Given the description of an element on the screen output the (x, y) to click on. 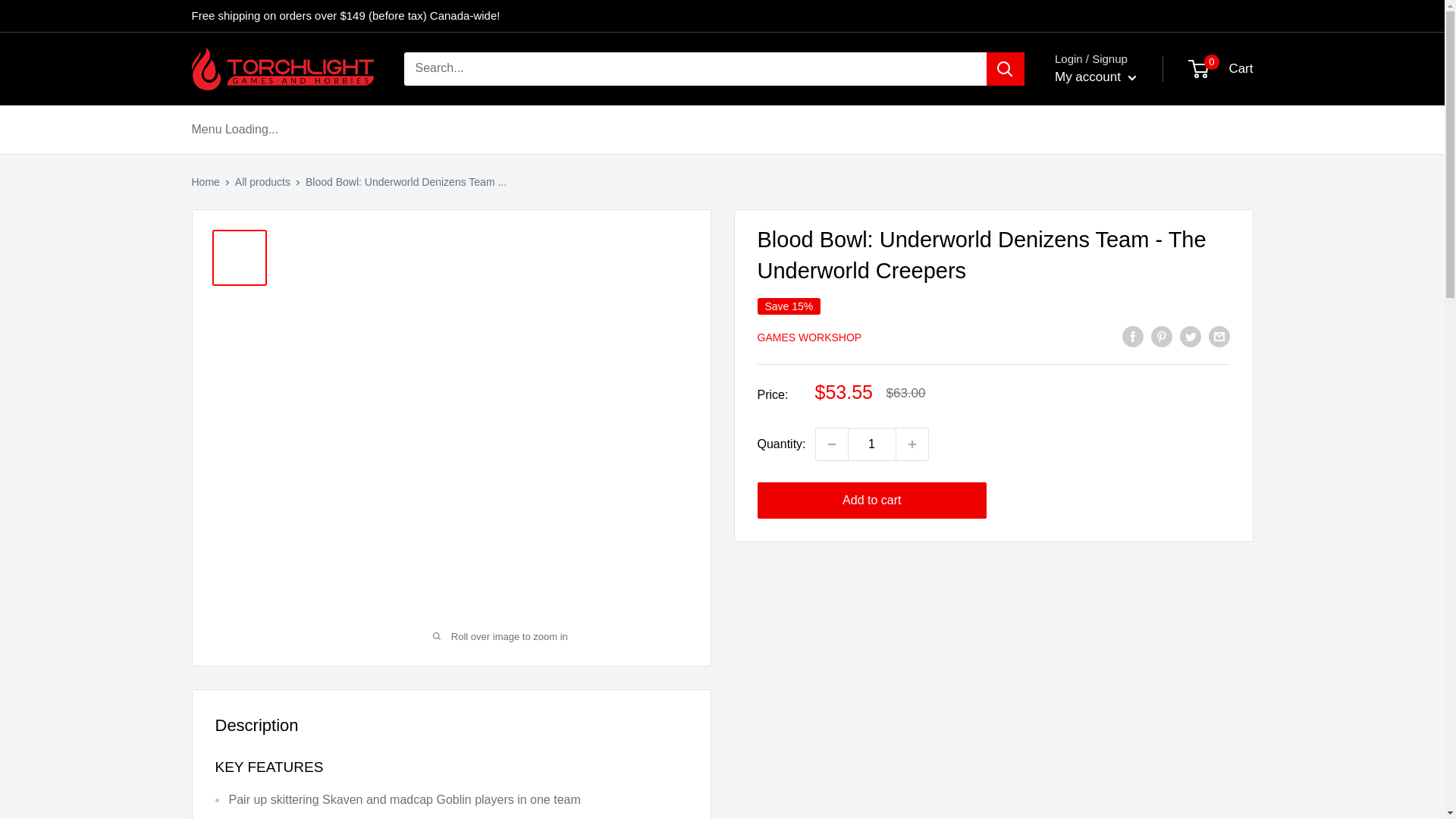
Home (204, 182)
Decrease quantity by 1 (831, 444)
Increase quantity by 1 (912, 444)
My account (1095, 77)
Menu Loading... (1221, 68)
1 (234, 128)
All products (871, 444)
Add to cart (261, 182)
GAMES WORKSHOP (872, 500)
